Given the description of an element on the screen output the (x, y) to click on. 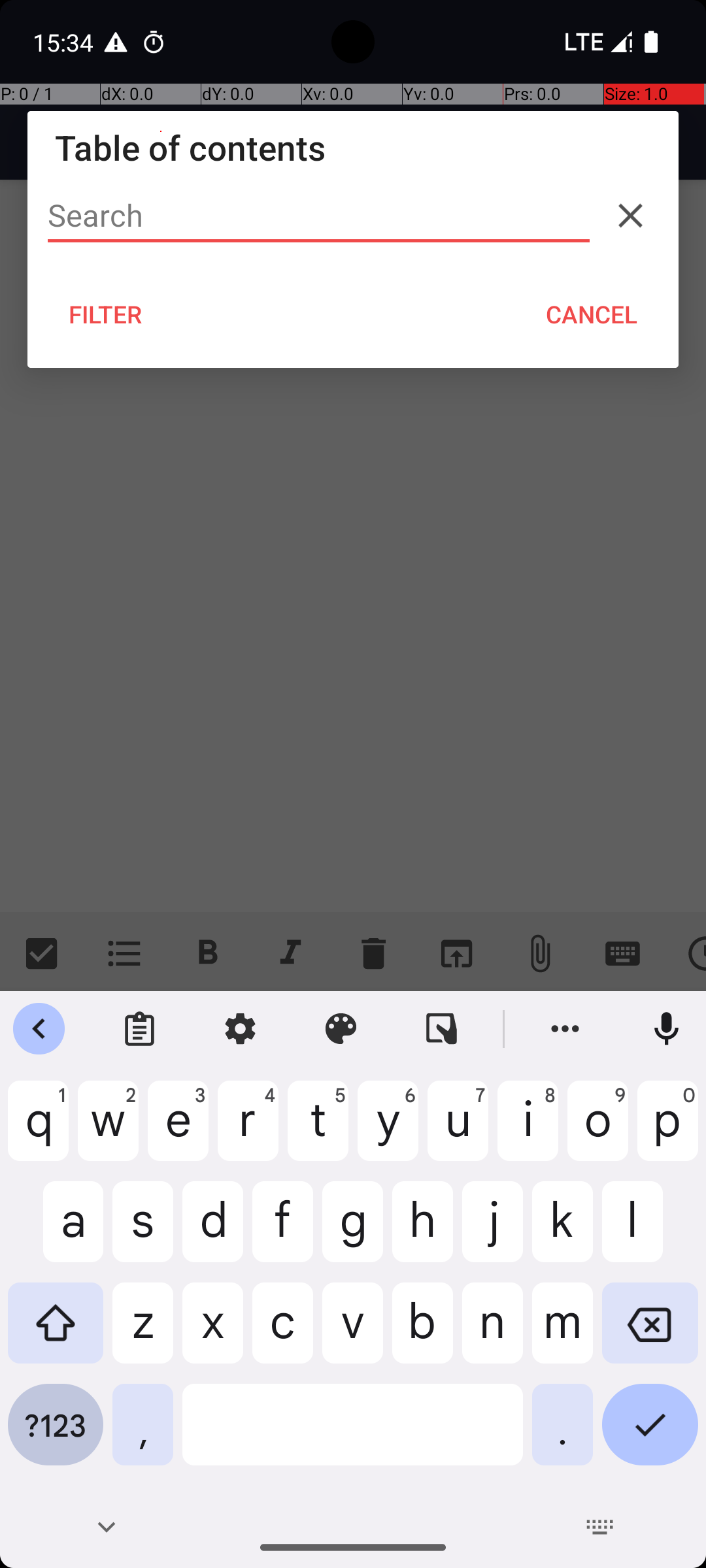
Table of contents Element type: android.widget.TextView (352, 147)
FILTER Element type: android.widget.Button (105, 313)
Theme settings Element type: android.widget.FrameLayout (340, 1028)
One handed mode Element type: android.widget.FrameLayout (441, 1028)
